Given the description of an element on the screen output the (x, y) to click on. 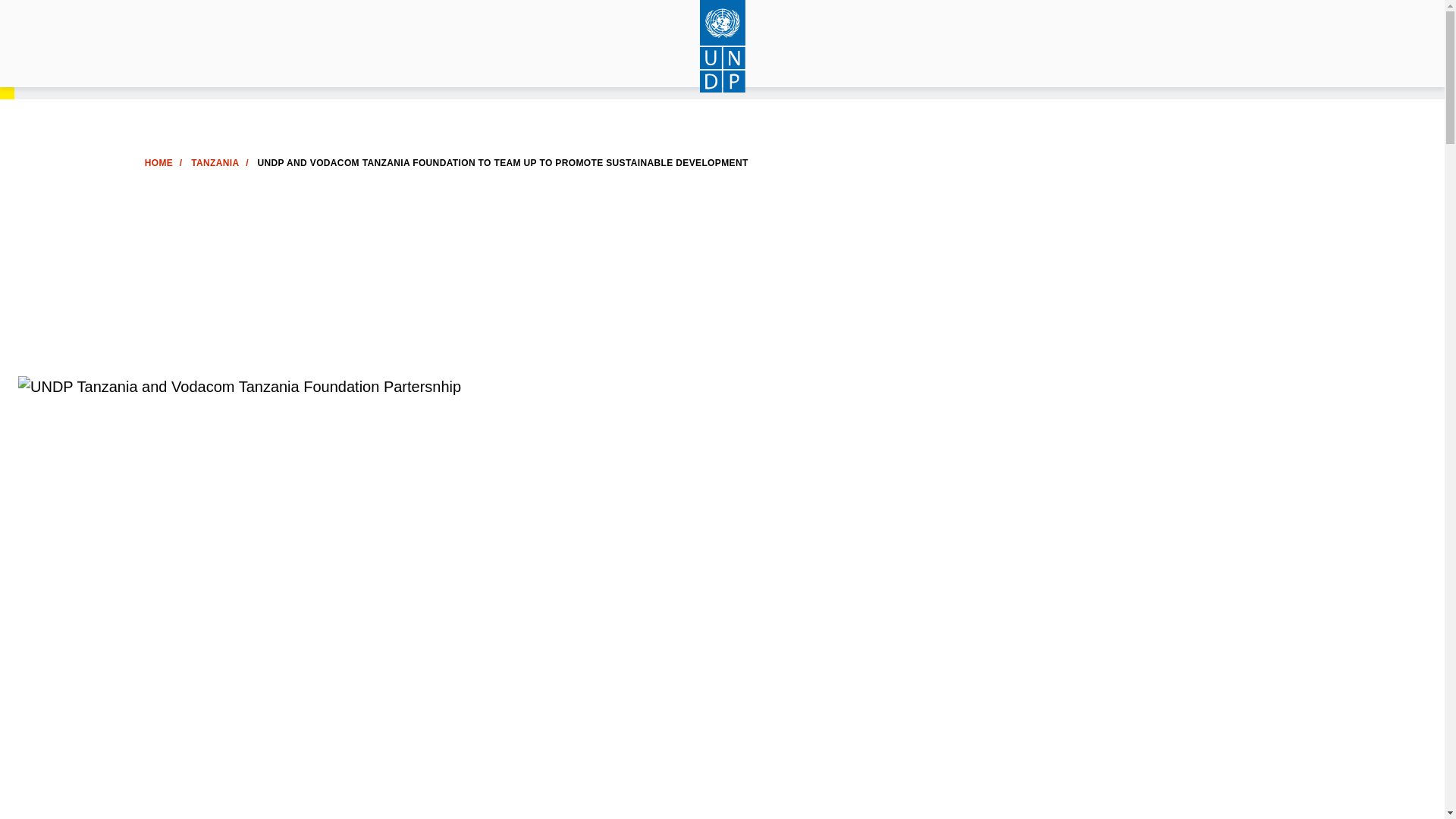
HOME (158, 163)
TANZANIA (214, 163)
